Given the description of an element on the screen output the (x, y) to click on. 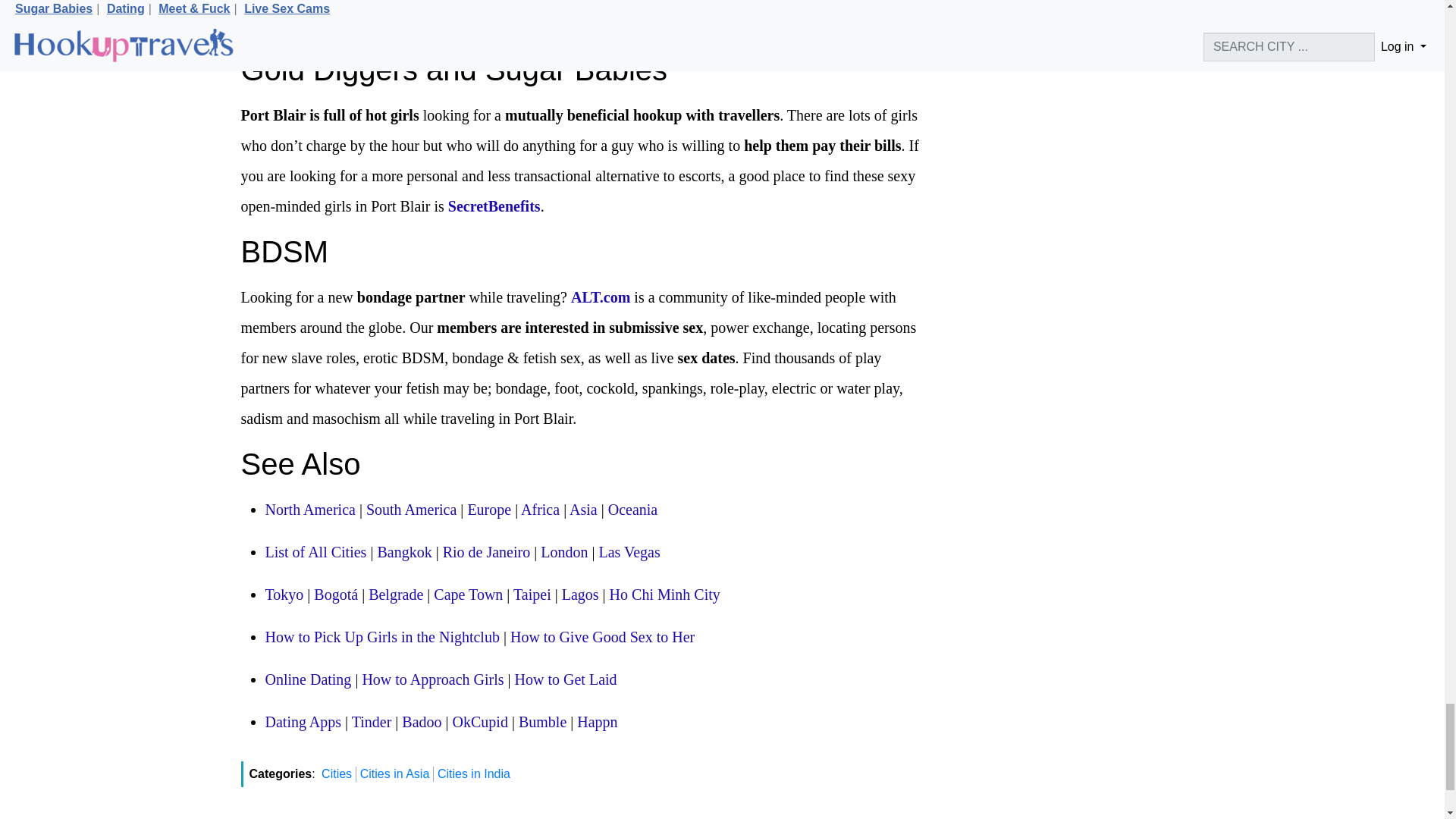
Bangkok (403, 551)
South America (411, 509)
North America (309, 509)
Africa (540, 509)
Rio de Janeiro (486, 551)
Las Vegas (628, 551)
Oceania (633, 509)
London (564, 551)
Europe (489, 509)
SecretBenefits (494, 206)
Asia (582, 509)
North America (309, 509)
Category:Cities (315, 551)
ALT.com (600, 297)
Tokyo (284, 594)
